Given the description of an element on the screen output the (x, y) to click on. 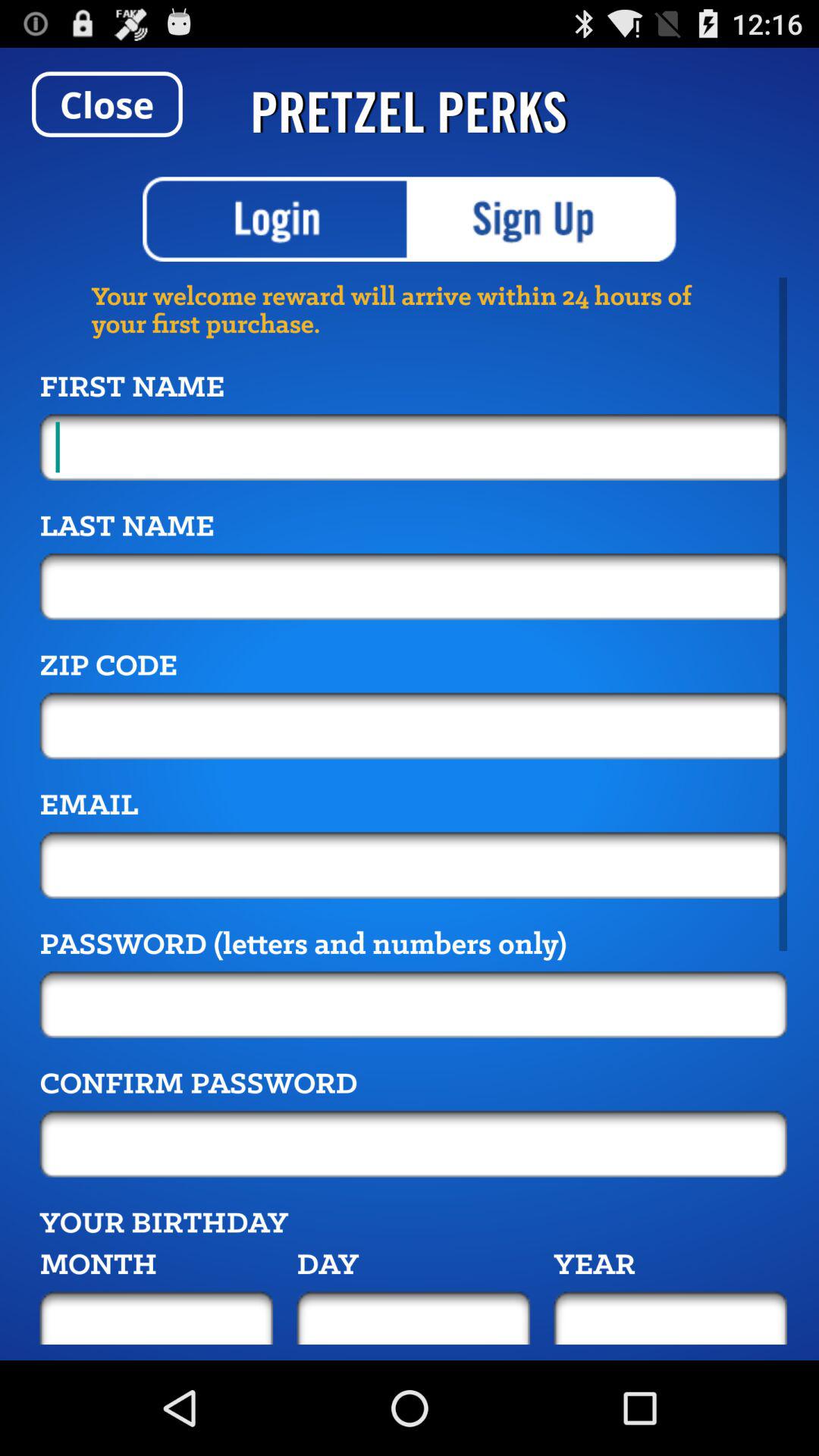
login option (276, 218)
